Given the description of an element on the screen output the (x, y) to click on. 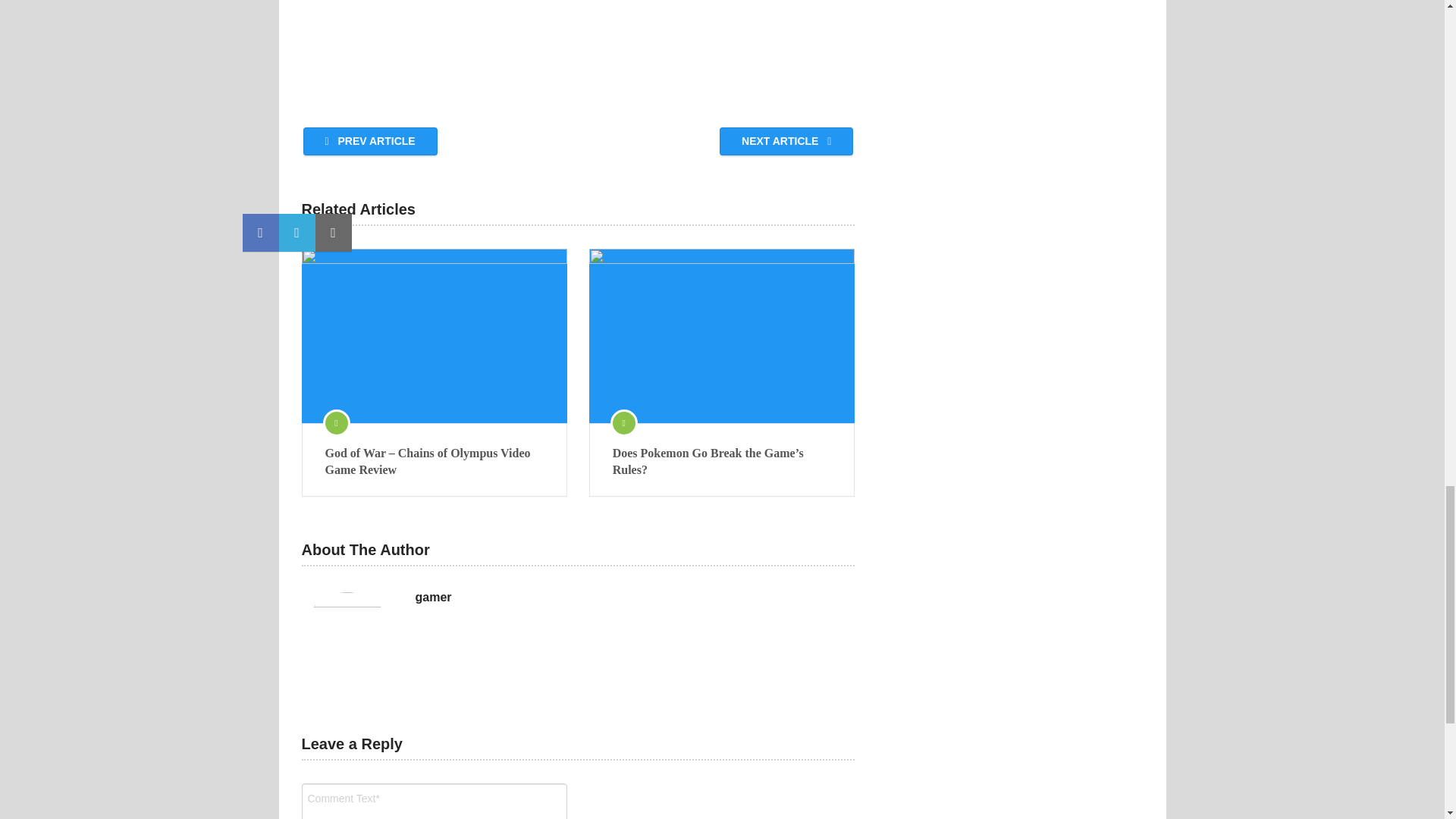
gamer (432, 597)
PREV ARTICLE (370, 141)
NEXT ARTICLE (786, 141)
